Given the description of an element on the screen output the (x, y) to click on. 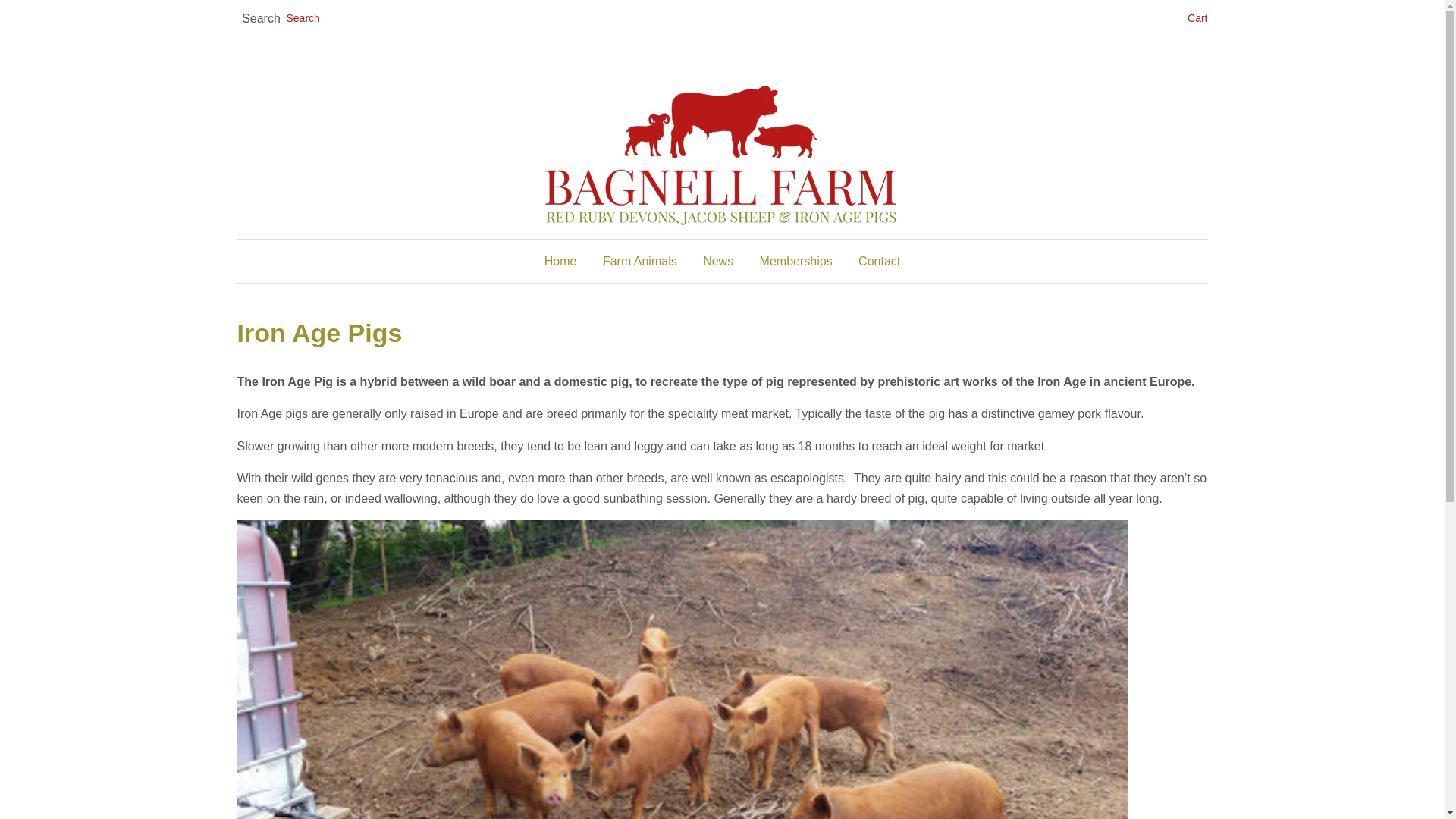
Home (566, 260)
Cart (1197, 18)
Memberships (796, 260)
News (717, 260)
Contact (873, 260)
Farm Animals (639, 260)
Search (260, 18)
